Given the description of an element on the screen output the (x, y) to click on. 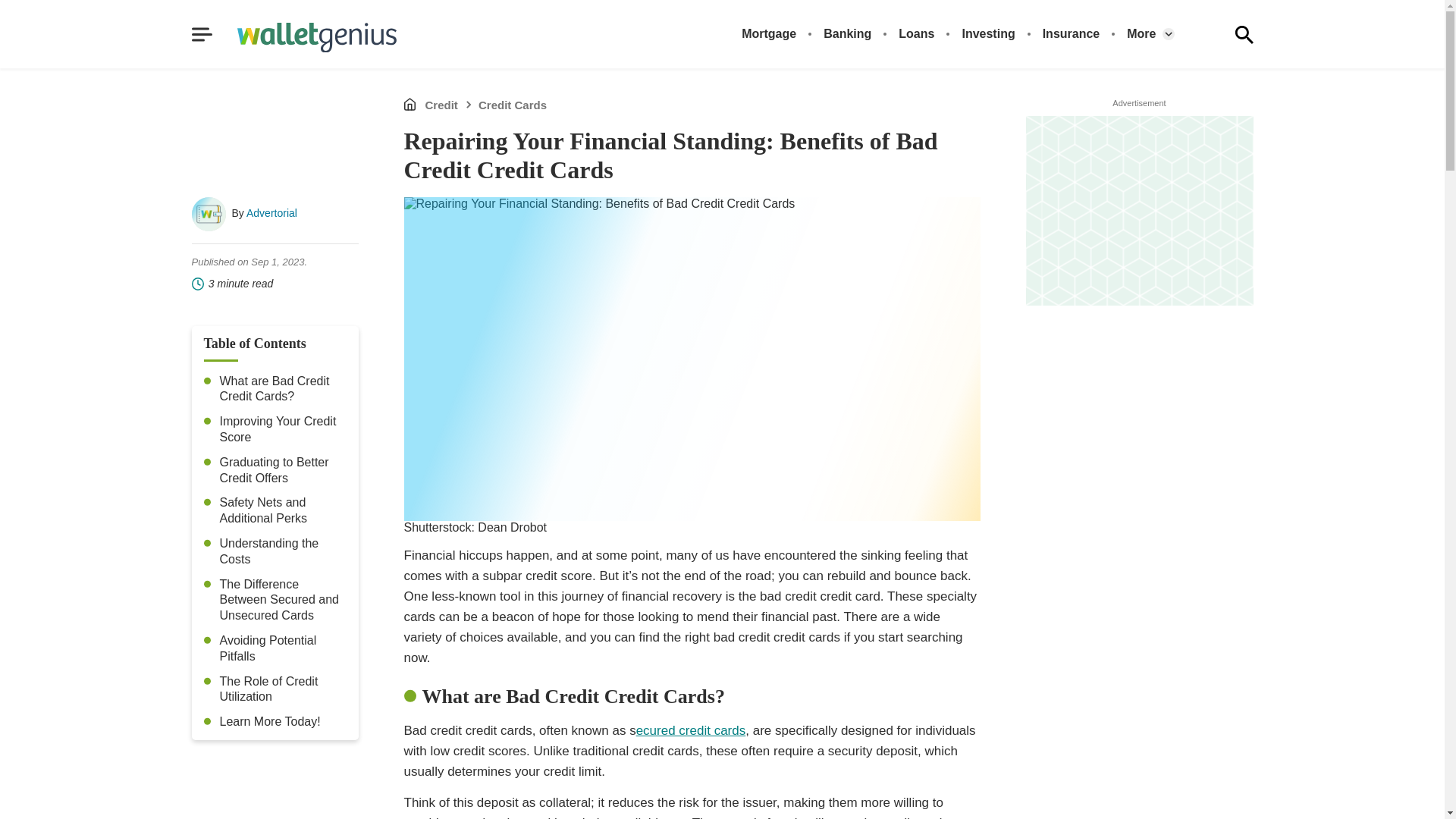
More (1141, 33)
Insurance (1071, 33)
Banking (847, 33)
Investing (987, 33)
Mortgage (768, 33)
Credit (441, 104)
Credit Cards (513, 104)
Home (408, 103)
Loans (916, 33)
